Given the description of an element on the screen output the (x, y) to click on. 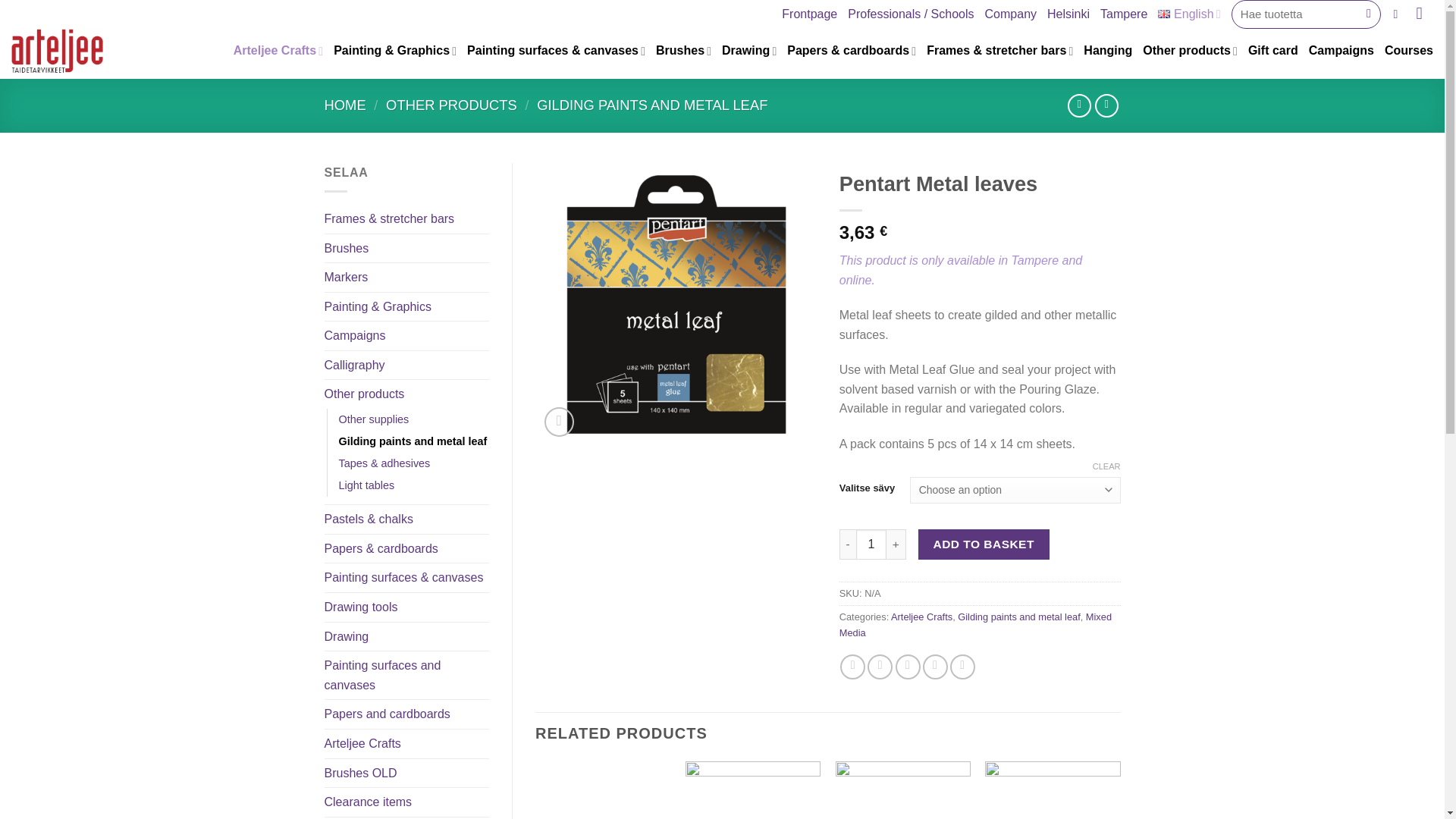
Tampere (1123, 14)
Company (1010, 14)
1 (871, 544)
Helsinki (1067, 14)
English (1188, 14)
Email to a Friend (907, 666)
Share on Twitter (879, 666)
Pin on Pinterest (935, 666)
Frontpage (809, 14)
Zoom (558, 421)
